Given the description of an element on the screen output the (x, y) to click on. 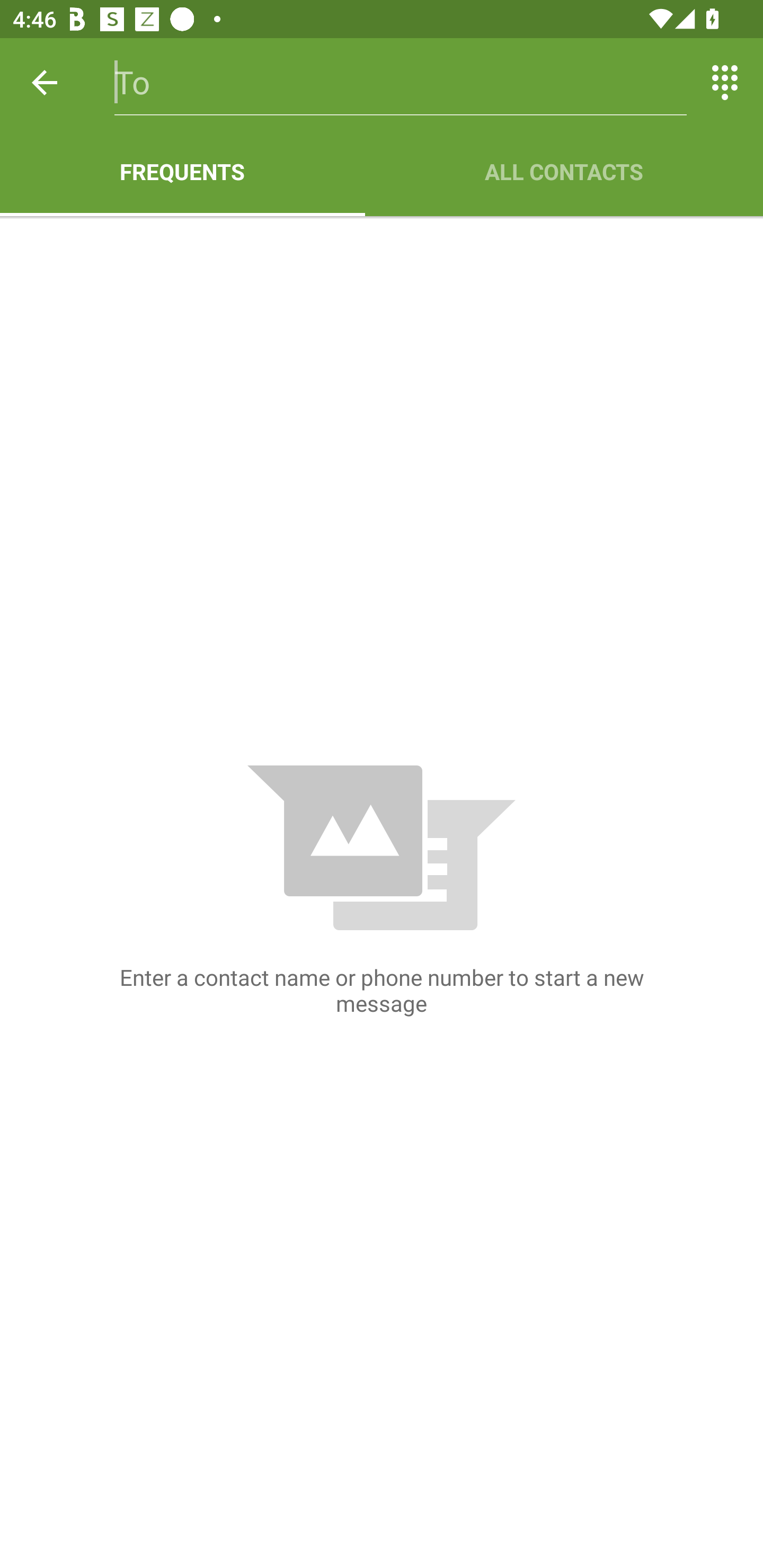
Back (44, 82)
Switch between entering text and numbers (724, 81)
To (400, 82)
FREQUENTS (182, 171)
ALL CONTACTS (563, 171)
